Given the description of an element on the screen output the (x, y) to click on. 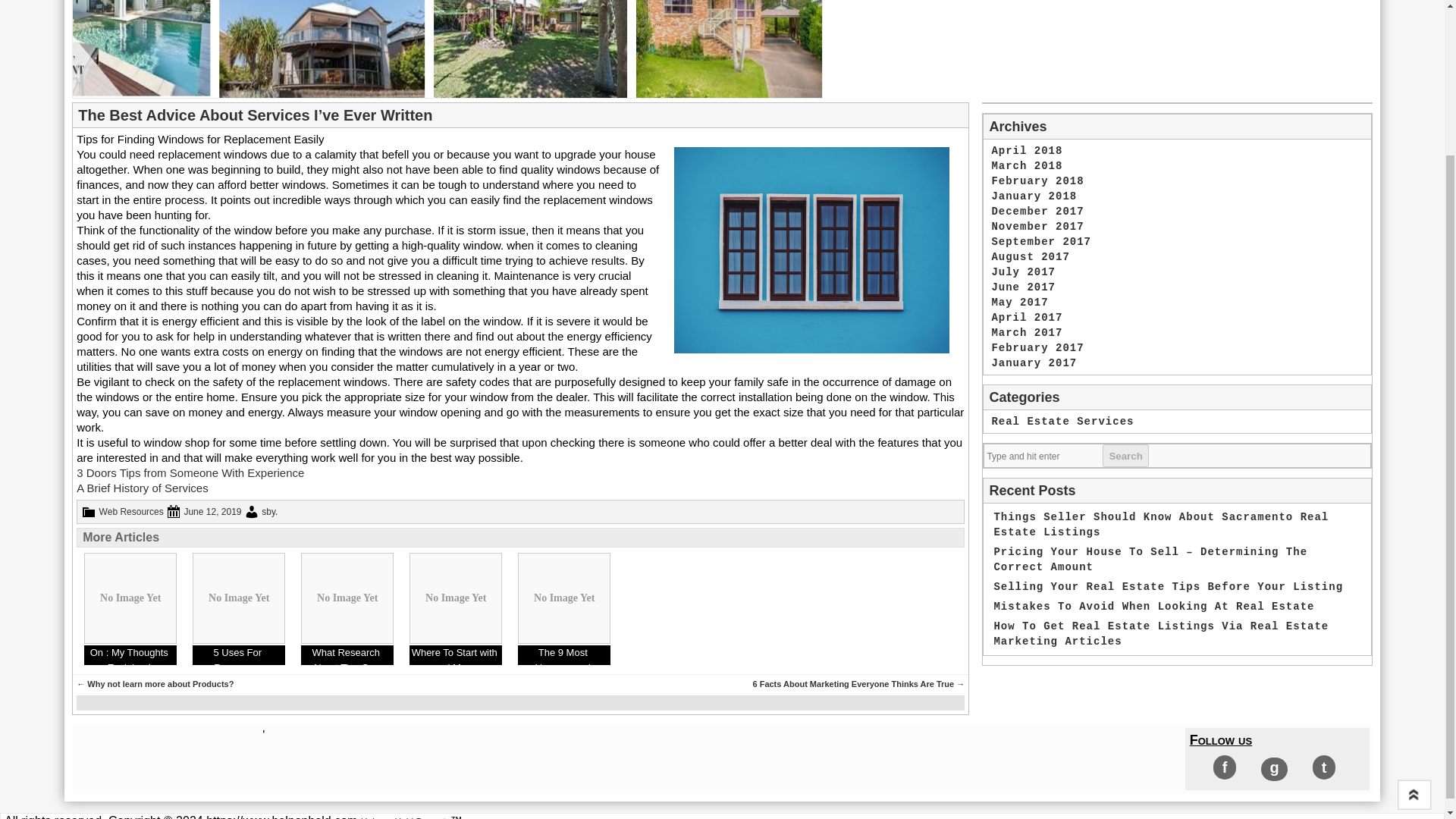
A Brief History of Services (142, 487)
June 2017 (1023, 287)
September 2017 (1040, 241)
11:18 am (212, 511)
Web Resources (131, 511)
January 2017 (1034, 363)
June 12, 2019 (212, 511)
3 Doors Tips from Someone With Experience (190, 472)
sby (268, 511)
August 2017 (1029, 256)
